Given the description of an element on the screen output the (x, y) to click on. 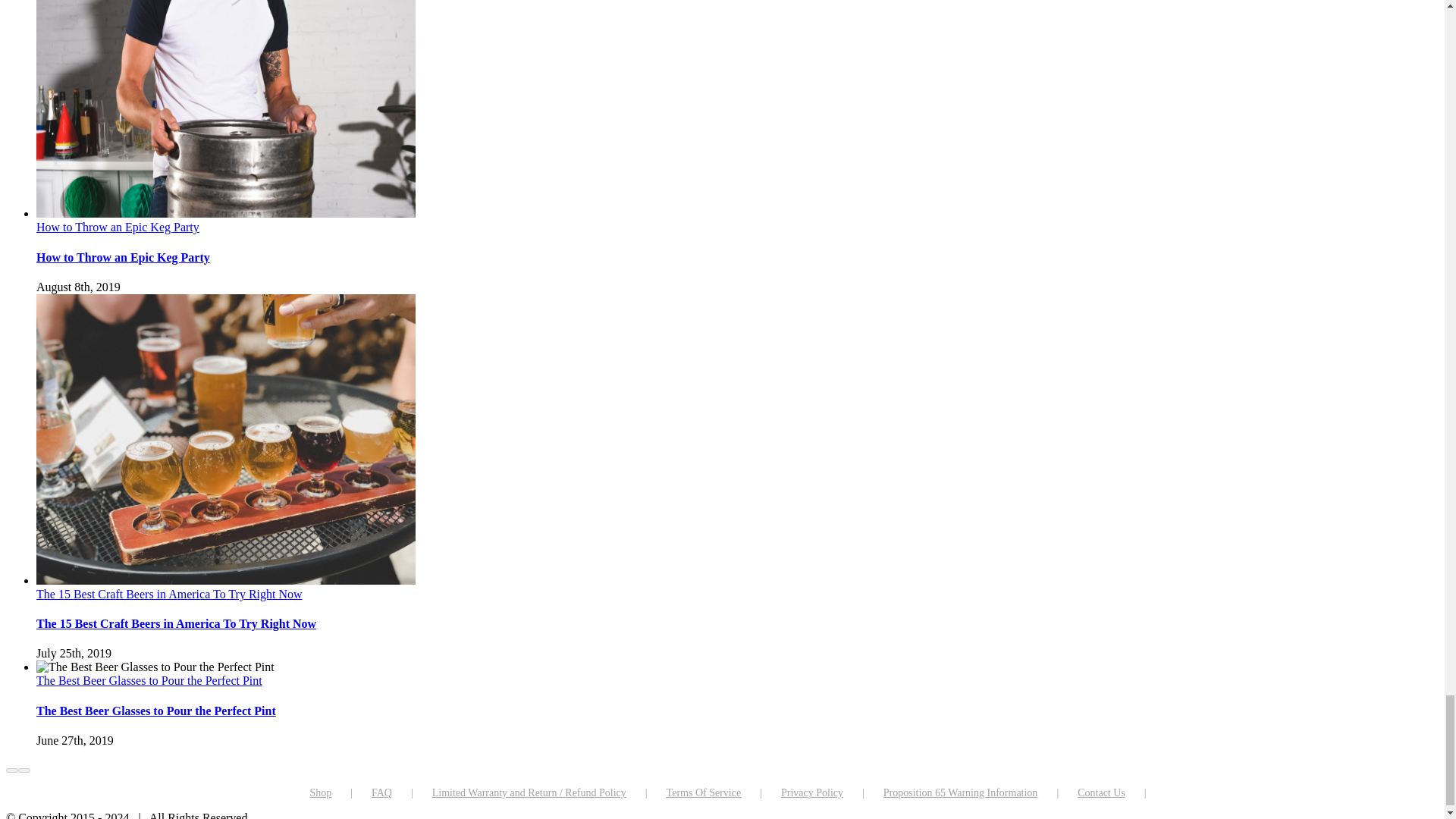
How to Throw an Epic Keg Party (122, 256)
The 15 Best Craft Beers in America To Try Right Now (175, 623)
The Best Beer Glasses to Pour the Perfect Pint (156, 710)
